Given the description of an element on the screen output the (x, y) to click on. 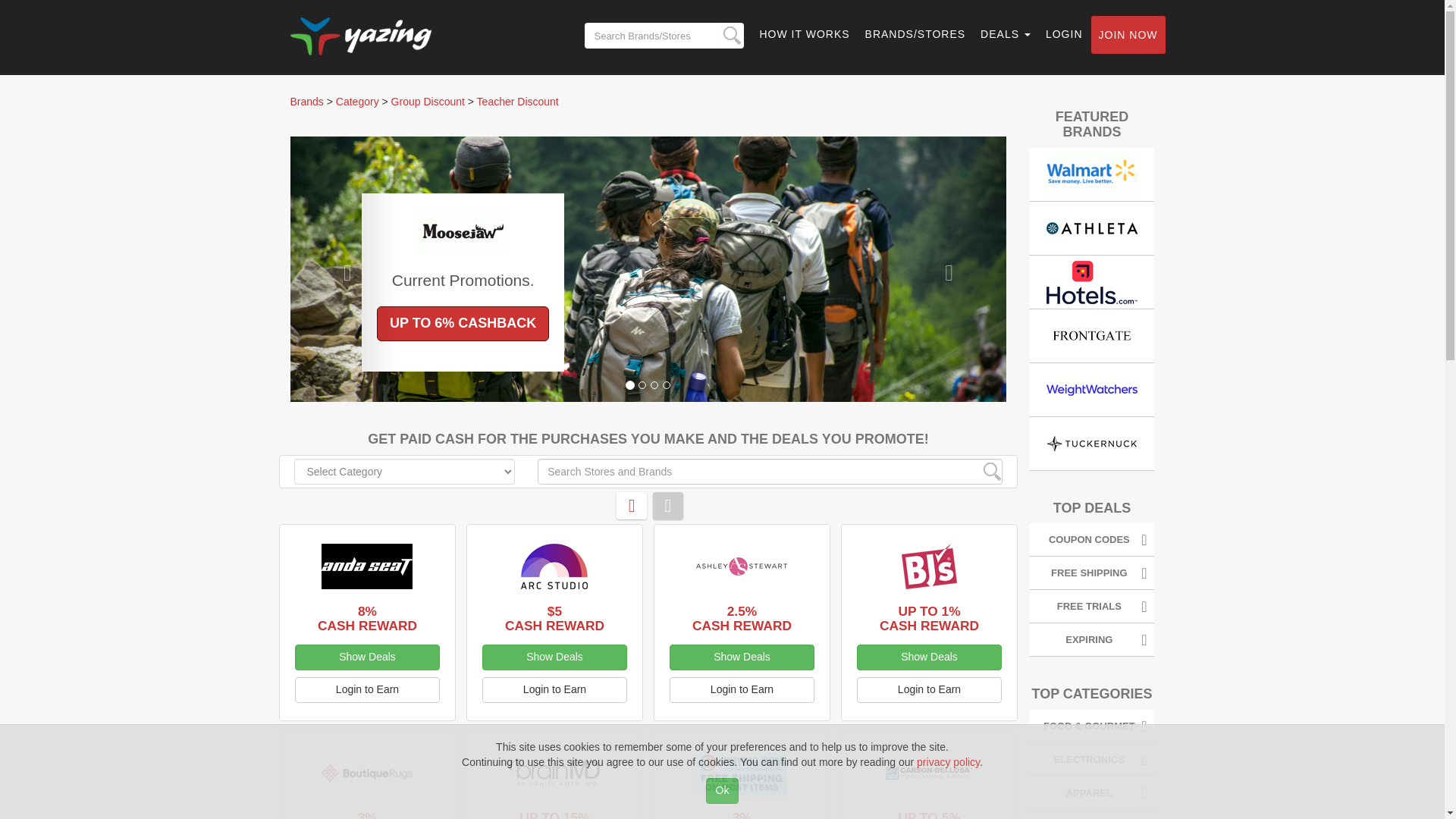
Arc Studio Labs, Inc. Coupon Codes and Deals (553, 565)
Login to Earn (554, 689)
BrainMD Coupon Codes and Deals (553, 772)
JOIN NOW (1128, 34)
Moosejaw (462, 230)
DEALS (1005, 34)
LOGIN (1064, 34)
AndaSeat Technology Coupon Codes and Deals (366, 565)
Buydig Coupon Codes and Deals (741, 772)
Show Deals (366, 657)
Carson Dellosa Education Coupon Codes and Deals (928, 772)
Grid view (630, 505)
Ashley Stewart Coupon Codes and Deals (741, 565)
Brands (306, 101)
Boutique Rugs Coupon Codes and Deals (366, 772)
